Given the description of an element on the screen output the (x, y) to click on. 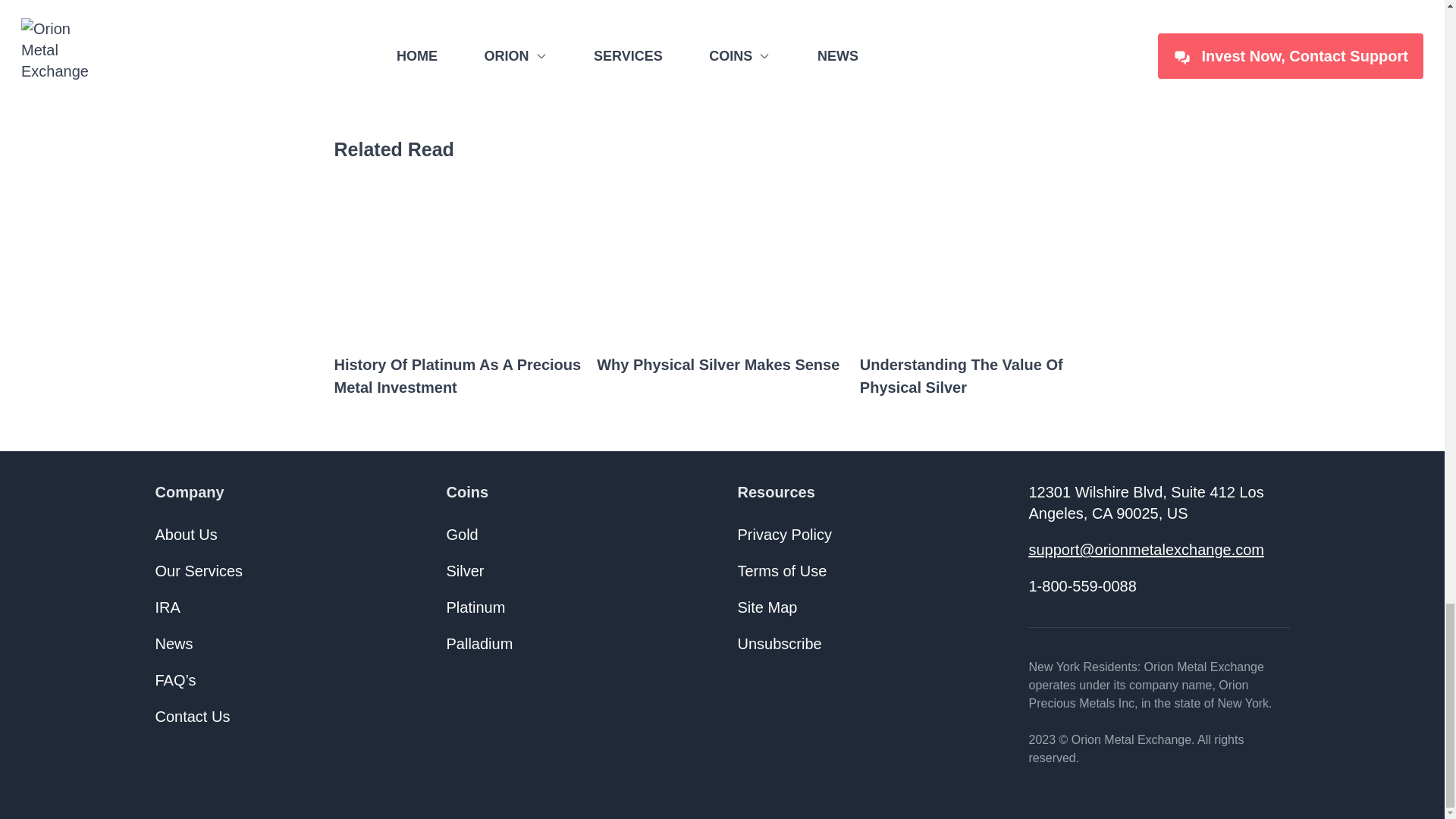
Why Physical Silver Makes Sense (721, 366)
Orion Metal Exchange (897, 11)
contact us (767, 11)
gold coins (428, 81)
investing in precious metals (752, 36)
Understanding The Value of Physical Silver (985, 377)
History of Platinum as a Precious Metal Investment (459, 377)
